Given the description of an element on the screen output the (x, y) to click on. 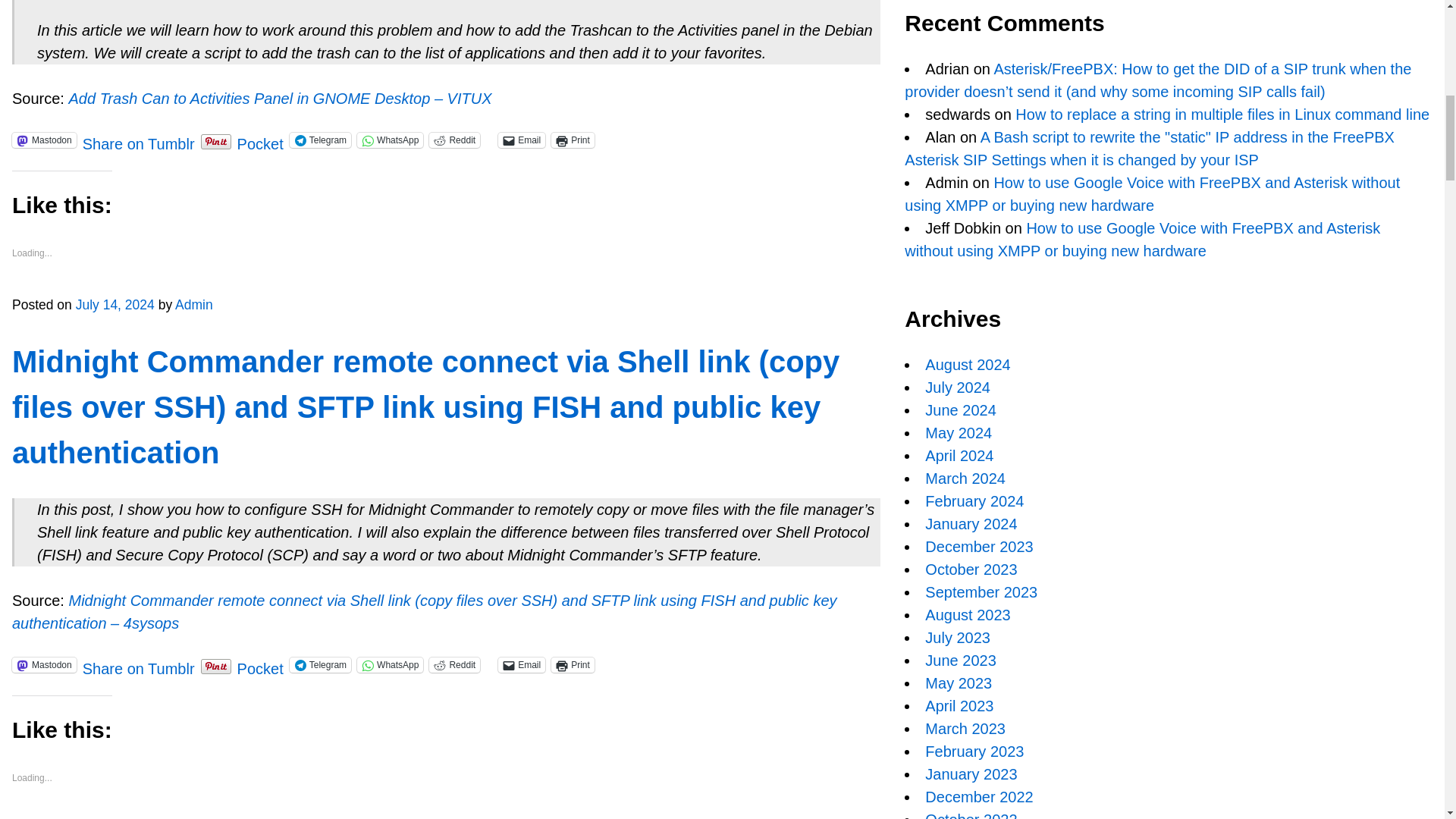
WhatsApp (389, 139)
Share on Tumblr (138, 138)
Print (572, 139)
Mastodon (44, 139)
Click to share on Mastodon (44, 139)
Telegram (319, 139)
Email (520, 139)
Reddit (454, 139)
Share on Tumblr (138, 138)
Pocket (260, 143)
